Given the description of an element on the screen output the (x, y) to click on. 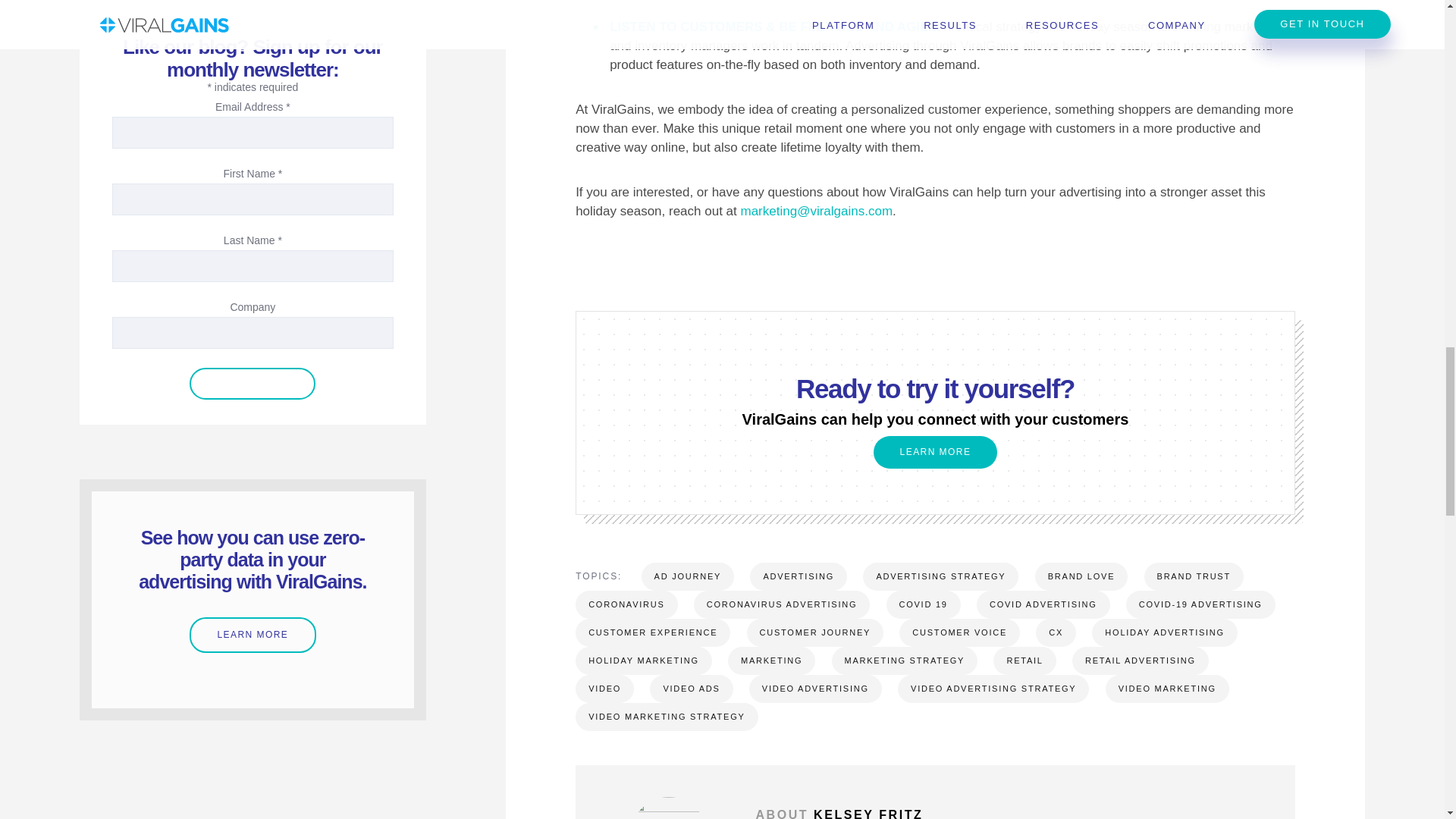
CORONAVIRUS ADVERTISING (781, 604)
COVID-19 ADVERTISING (1200, 604)
BRAND TRUST (1193, 576)
CUSTOMER EXPERIENCE (652, 633)
AD JOURNEY (688, 576)
COVID ADVERTISING (1042, 604)
ADVERTISING (798, 576)
ADVERTISING STRATEGY (940, 576)
Subscribe (252, 383)
COVID 19 (922, 604)
LEARN MORE (935, 451)
BRAND LOVE (1081, 576)
CORONAVIRUS (626, 604)
CUSTOMER JOURNEY (814, 633)
